Given the description of an element on the screen output the (x, y) to click on. 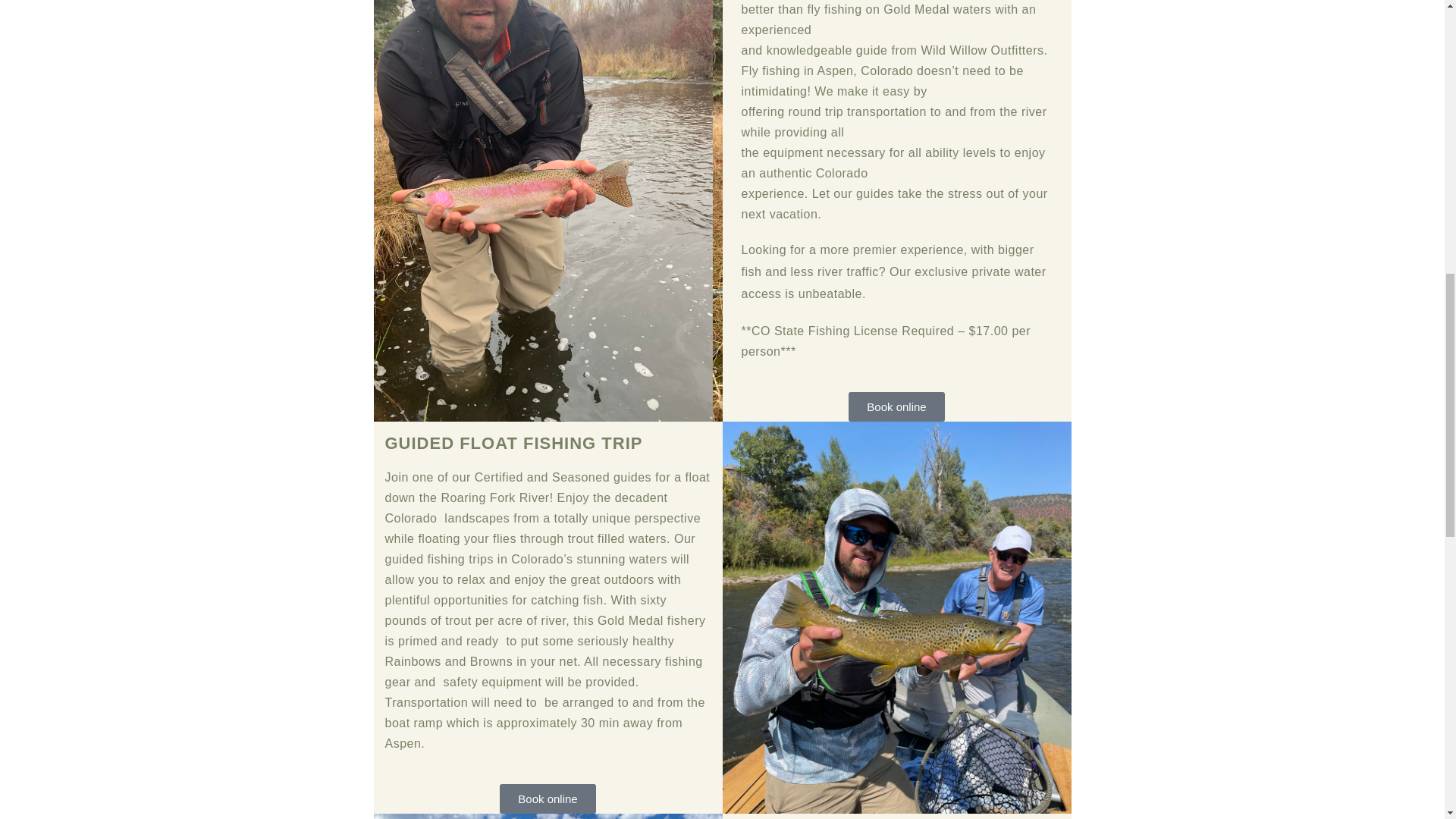
Book online (547, 798)
Book online (895, 406)
